Given the description of an element on the screen output the (x, y) to click on. 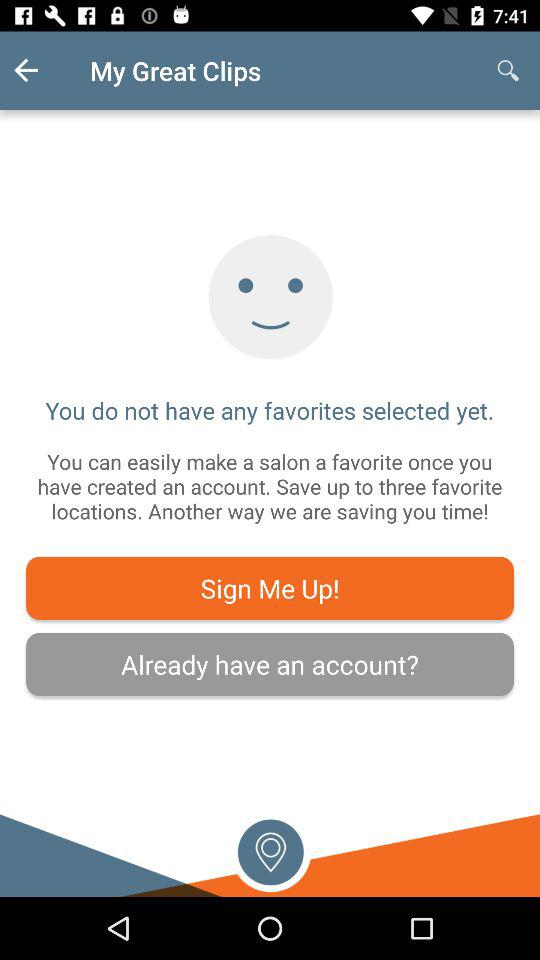
jump to sign me up! item (269, 587)
